Given the description of an element on the screen output the (x, y) to click on. 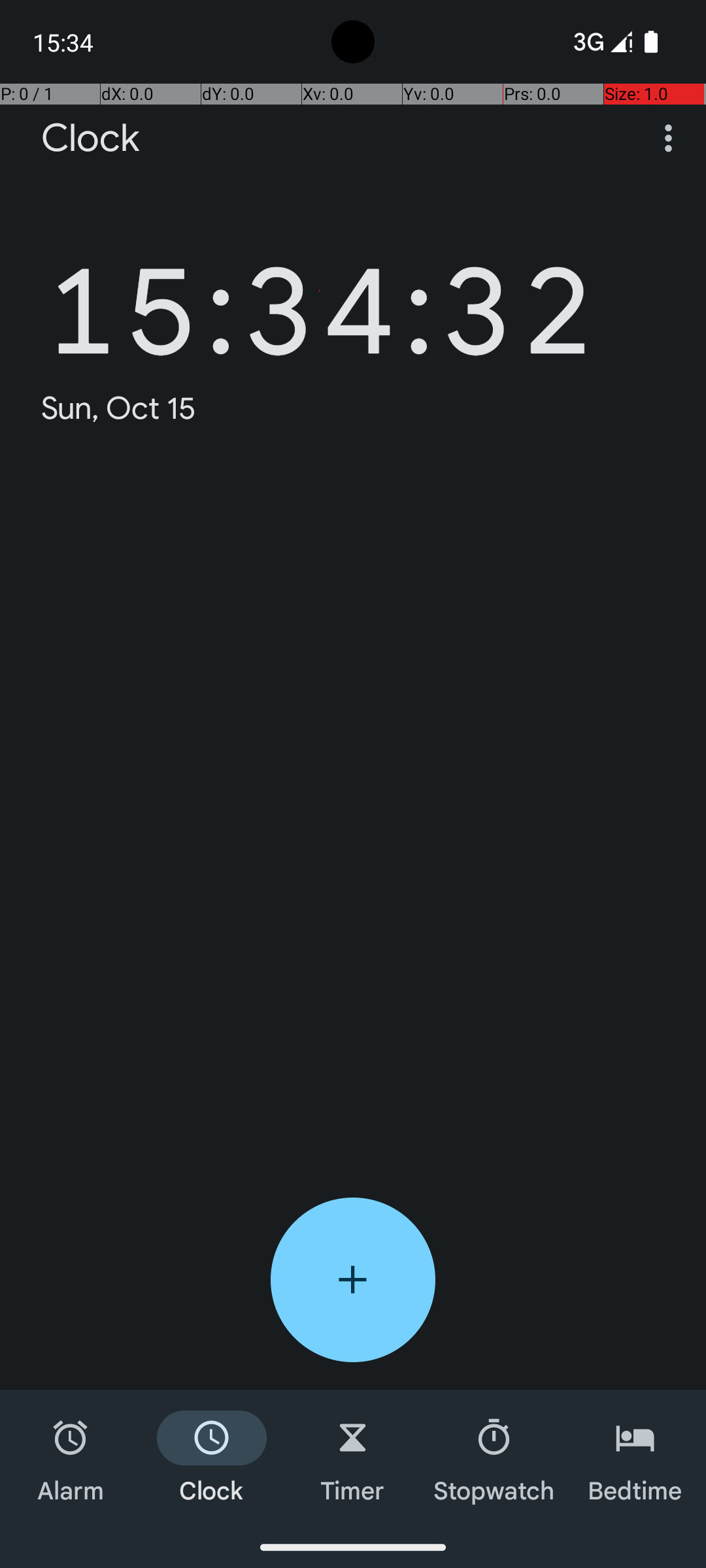
15:34:32 Element type: android.widget.TextView (319, 290)
